Given the description of an element on the screen output the (x, y) to click on. 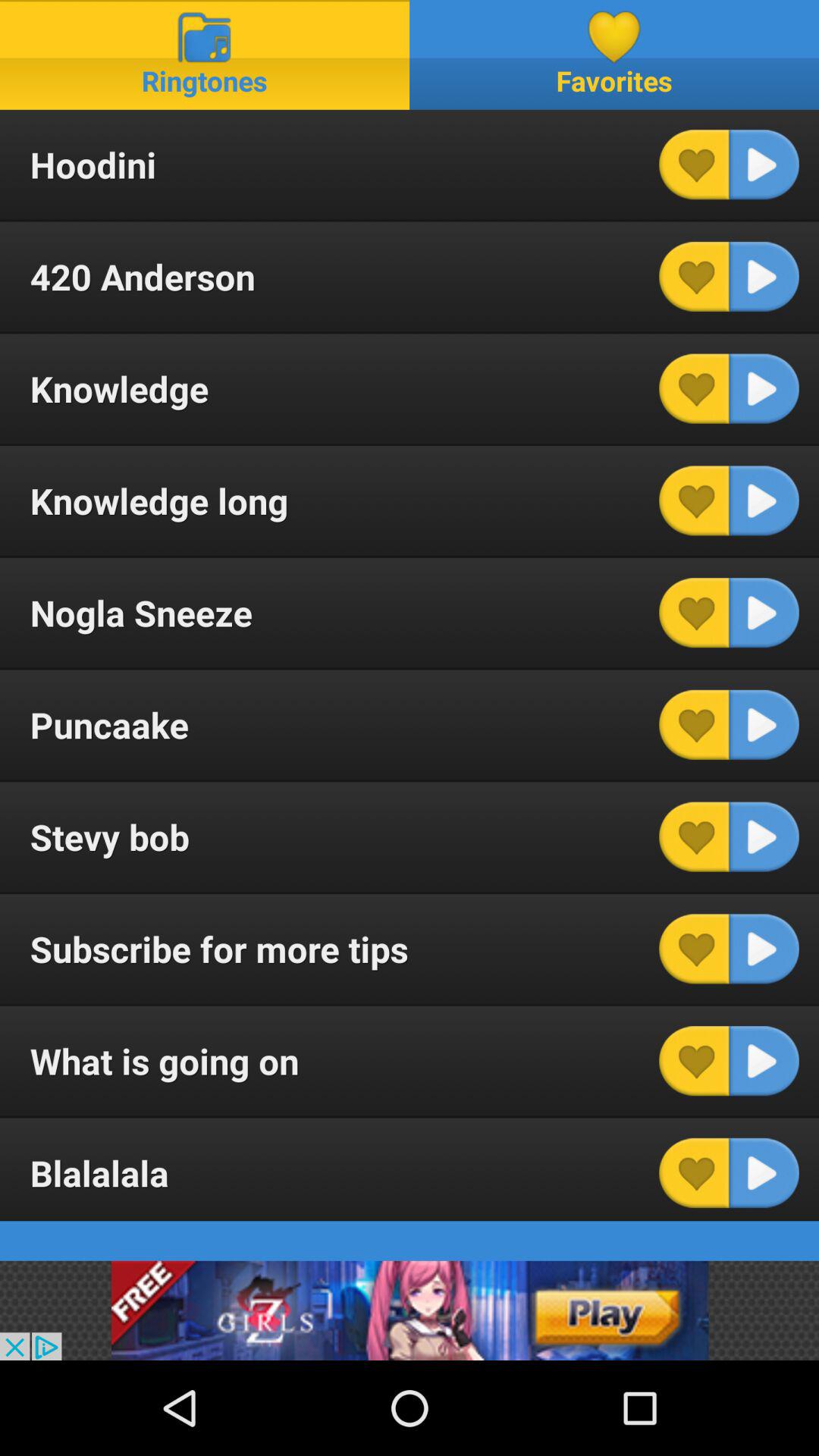
play (764, 948)
